Given the description of an element on the screen output the (x, y) to click on. 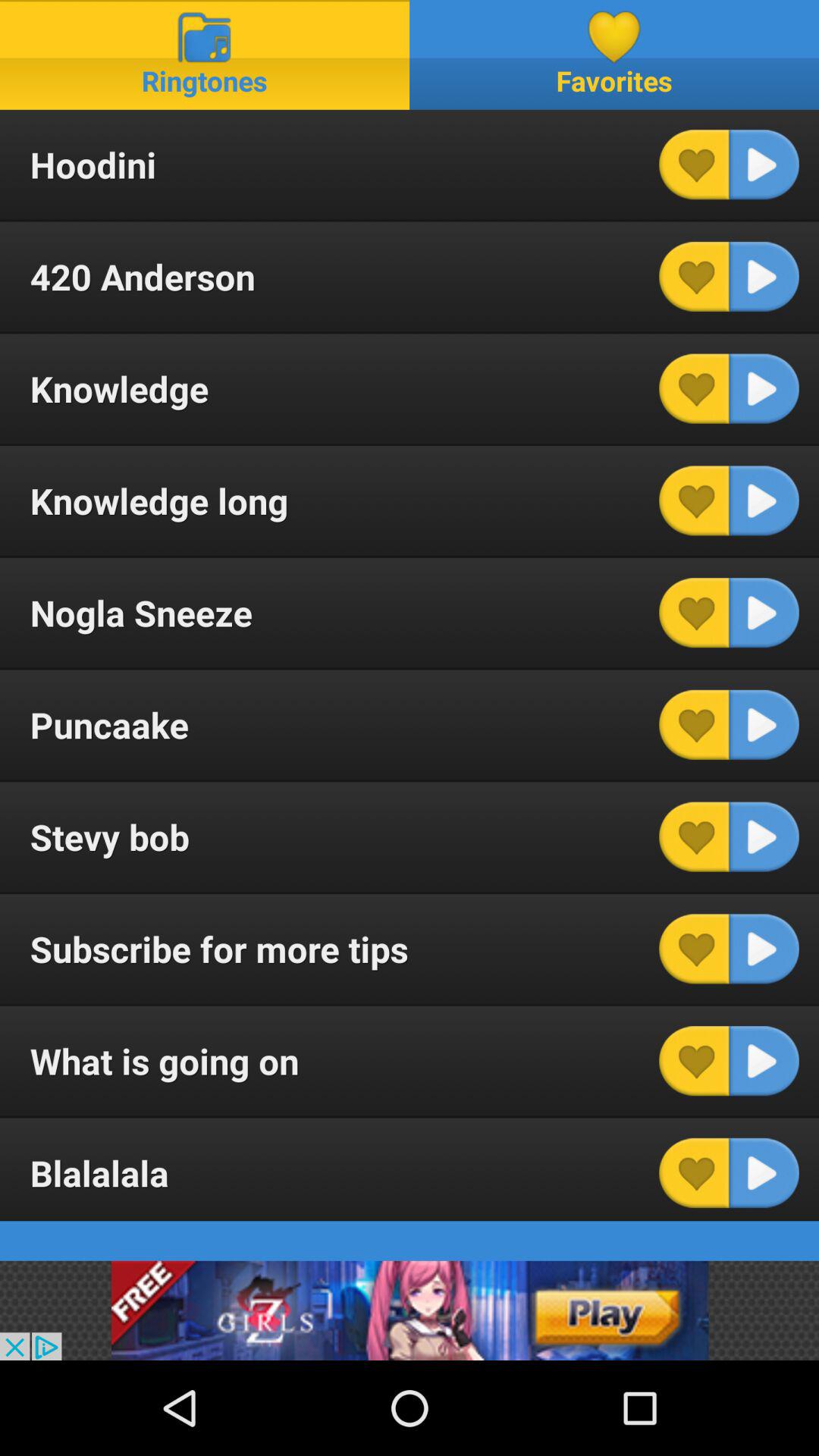
play (764, 948)
